Given the description of an element on the screen output the (x, y) to click on. 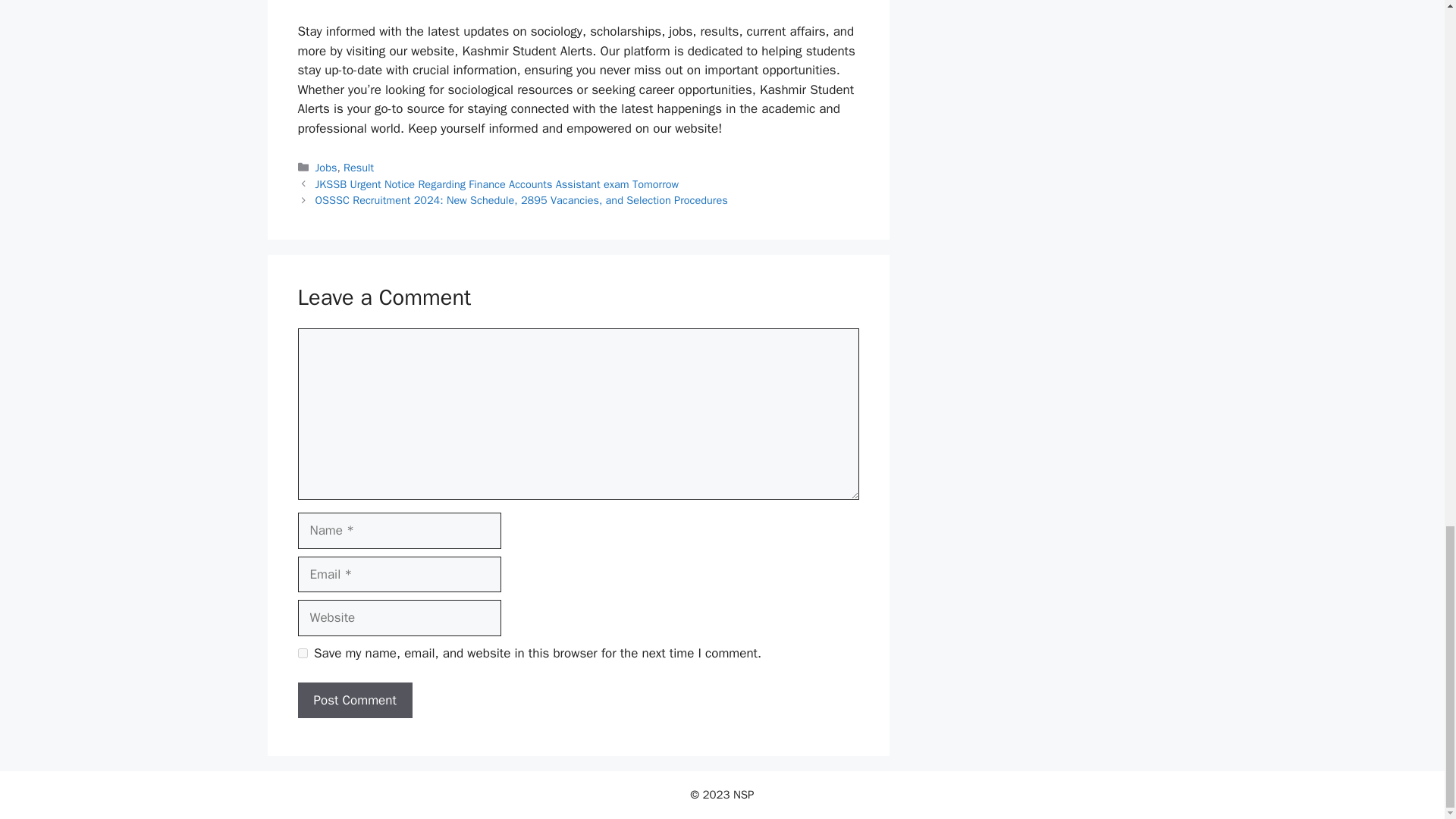
Post Comment (354, 700)
Jobs (326, 167)
Post Comment (354, 700)
Result (358, 167)
yes (302, 653)
